Given the description of an element on the screen output the (x, y) to click on. 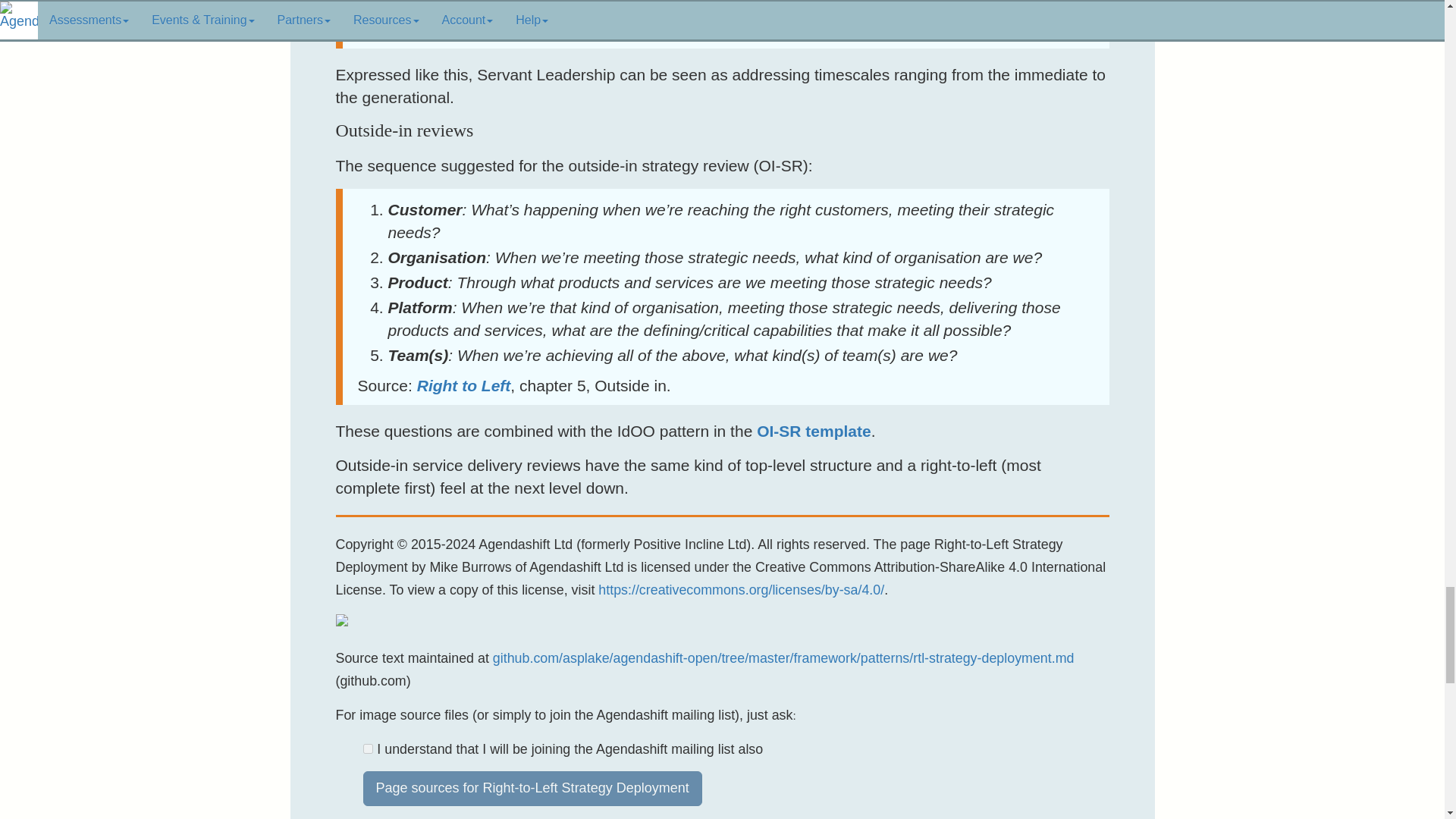
on (367, 748)
